Given the description of an element on the screen output the (x, y) to click on. 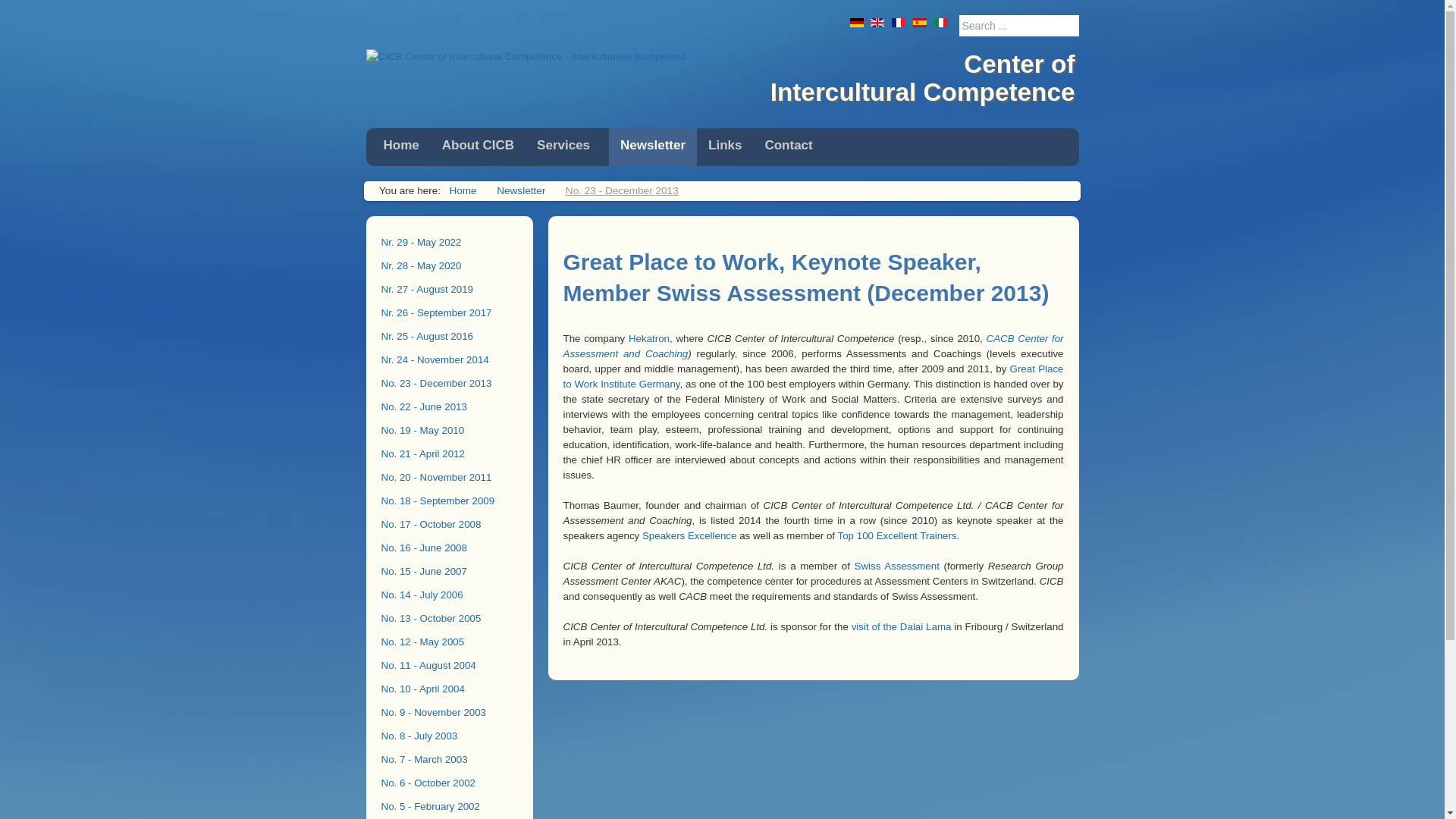
Newsletter (652, 146)
Home (400, 146)
No. 18 - September 2009 (448, 501)
Thomas Baumer at Top 100 Excellent Trainers (897, 535)
Newsletter (520, 190)
Nr. 29 - May 2022 (448, 242)
No. 13 - October 2005 (448, 618)
Nr. 25 - August 2016 (448, 336)
No. 15 - June 2007 (448, 571)
No. 23 - December 2013 (448, 383)
